Given the description of an element on the screen output the (x, y) to click on. 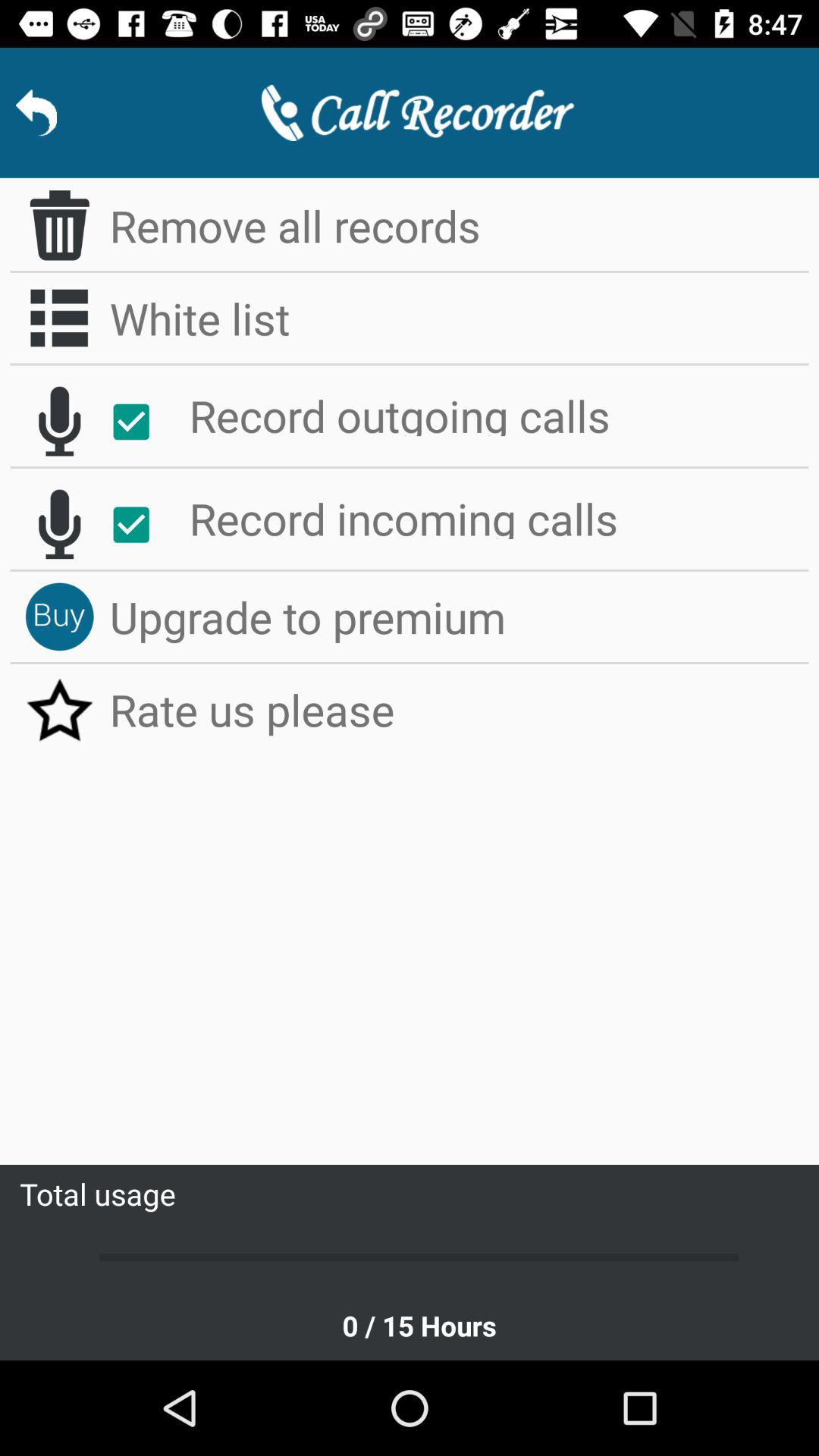
turn on white list icon (459, 318)
